Given the description of an element on the screen output the (x, y) to click on. 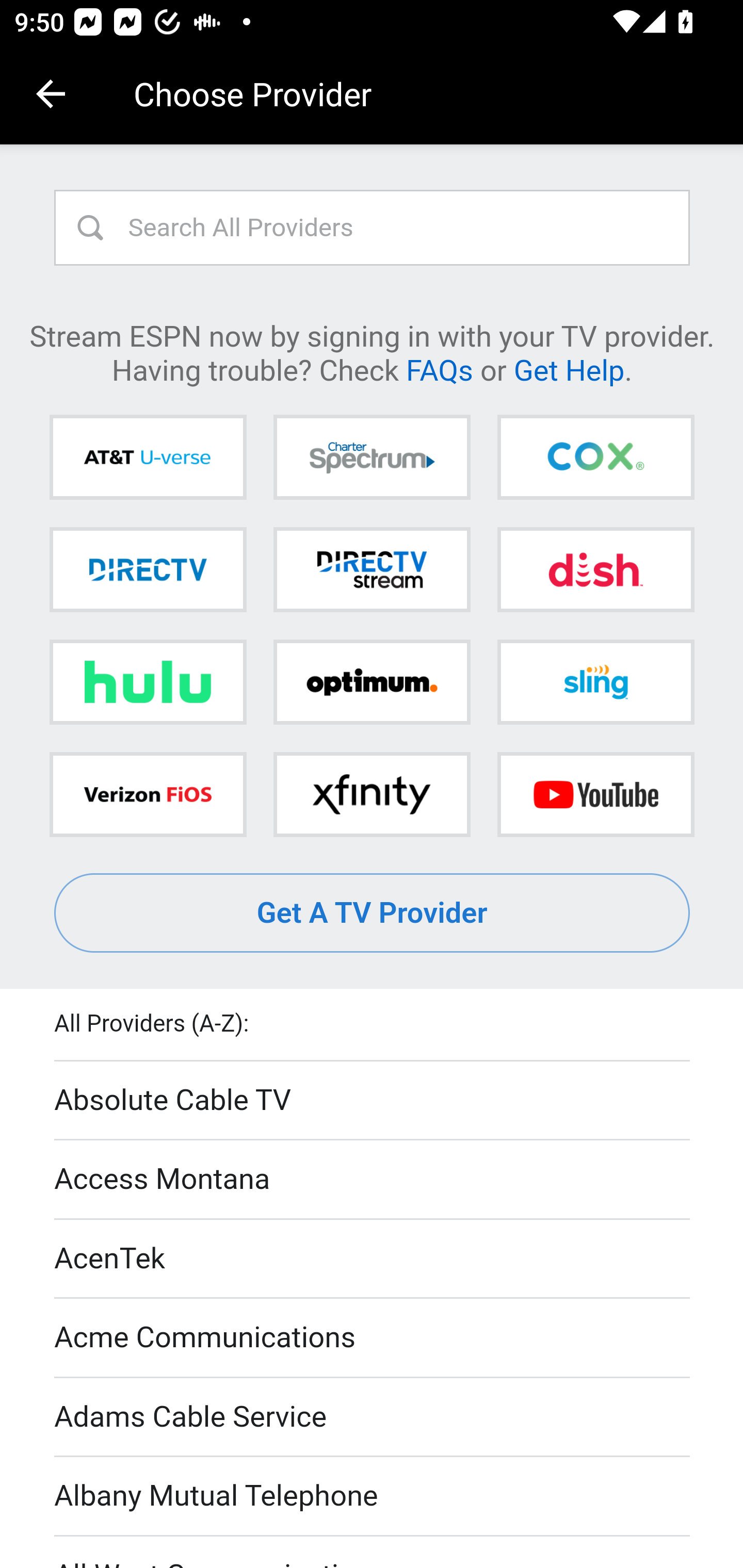
Navigate up (50, 93)
FAQs (438, 369)
Get Help (569, 369)
AT&T U-verse (147, 457)
Charter Spectrum (371, 457)
Cox (595, 457)
DIRECTV (147, 568)
DIRECTV STREAM (371, 568)
DISH (595, 568)
Hulu (147, 681)
Optimum (371, 681)
Sling TV (595, 681)
Verizon FiOS (147, 793)
Xfinity (371, 793)
YouTube TV (595, 793)
Get A TV Provider (372, 912)
Absolute Cable TV (372, 1100)
Access Montana (372, 1178)
AcenTek (372, 1258)
Acme Communications (372, 1338)
Adams Cable Service (372, 1417)
Albany Mutual Telephone (372, 1497)
